Given the description of an element on the screen output the (x, y) to click on. 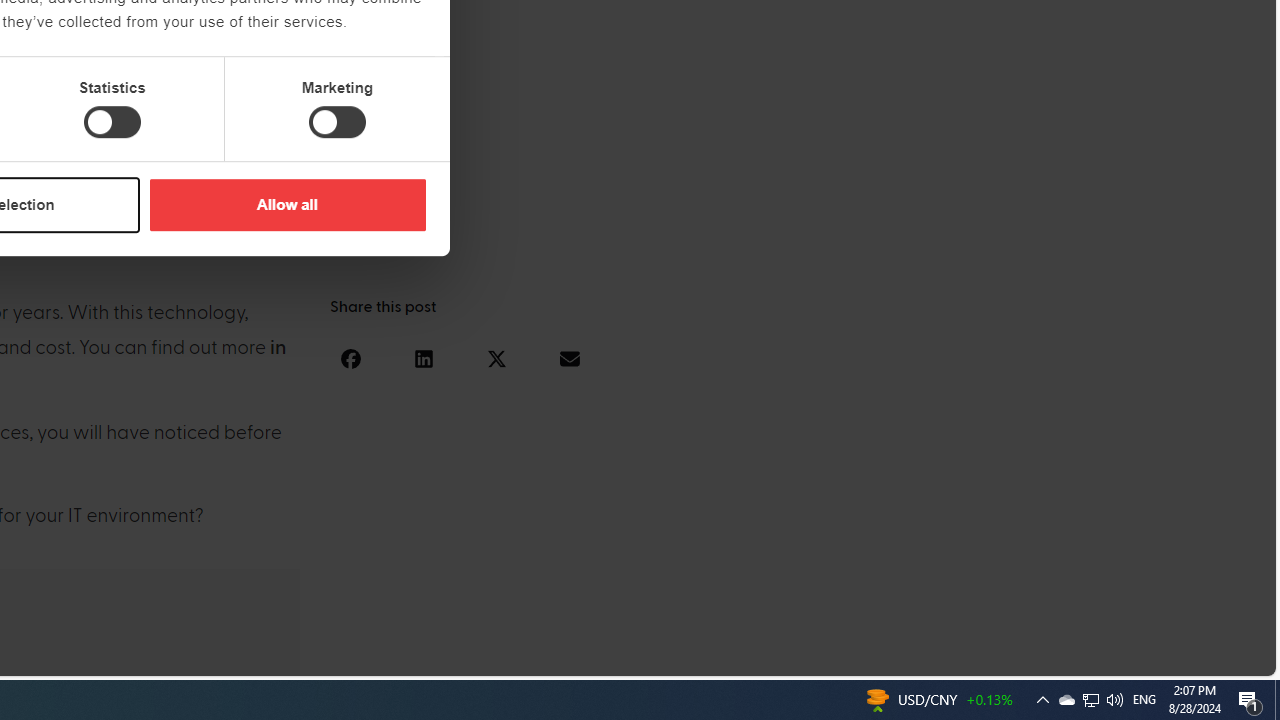
Language switcher : Danish (1025, 657)
Language switcher : Slovak (1085, 657)
Language switcher : Portuguese (1185, 657)
Share on email (569, 358)
Marketing (337, 121)
Language switcher : Romanian (1126, 657)
Language switcher : Polish (1005, 657)
Language switcher : Swedish (1105, 657)
Language switcher : Italian (945, 657)
Language switcher : Spanish (925, 657)
Language switcher : Norwegian (985, 657)
Share on facebook (350, 358)
Share on linkedin (423, 358)
Statistics (111, 121)
Language switcher : Slovenian (1066, 657)
